Given the description of an element on the screen output the (x, y) to click on. 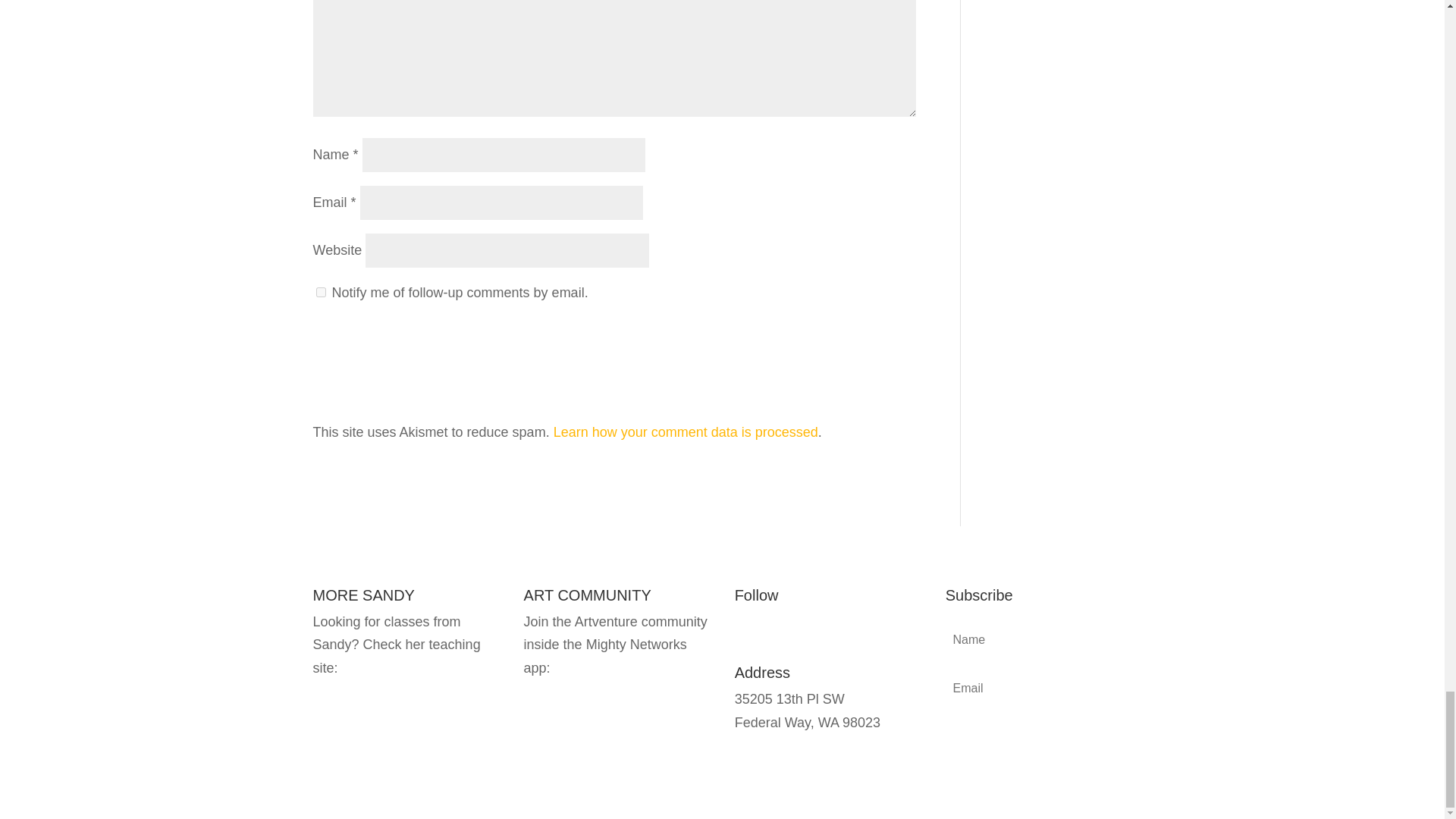
Submit Comment (840, 350)
Follow on Instagram (746, 634)
subscribe (319, 292)
